Given the description of an element on the screen output the (x, y) to click on. 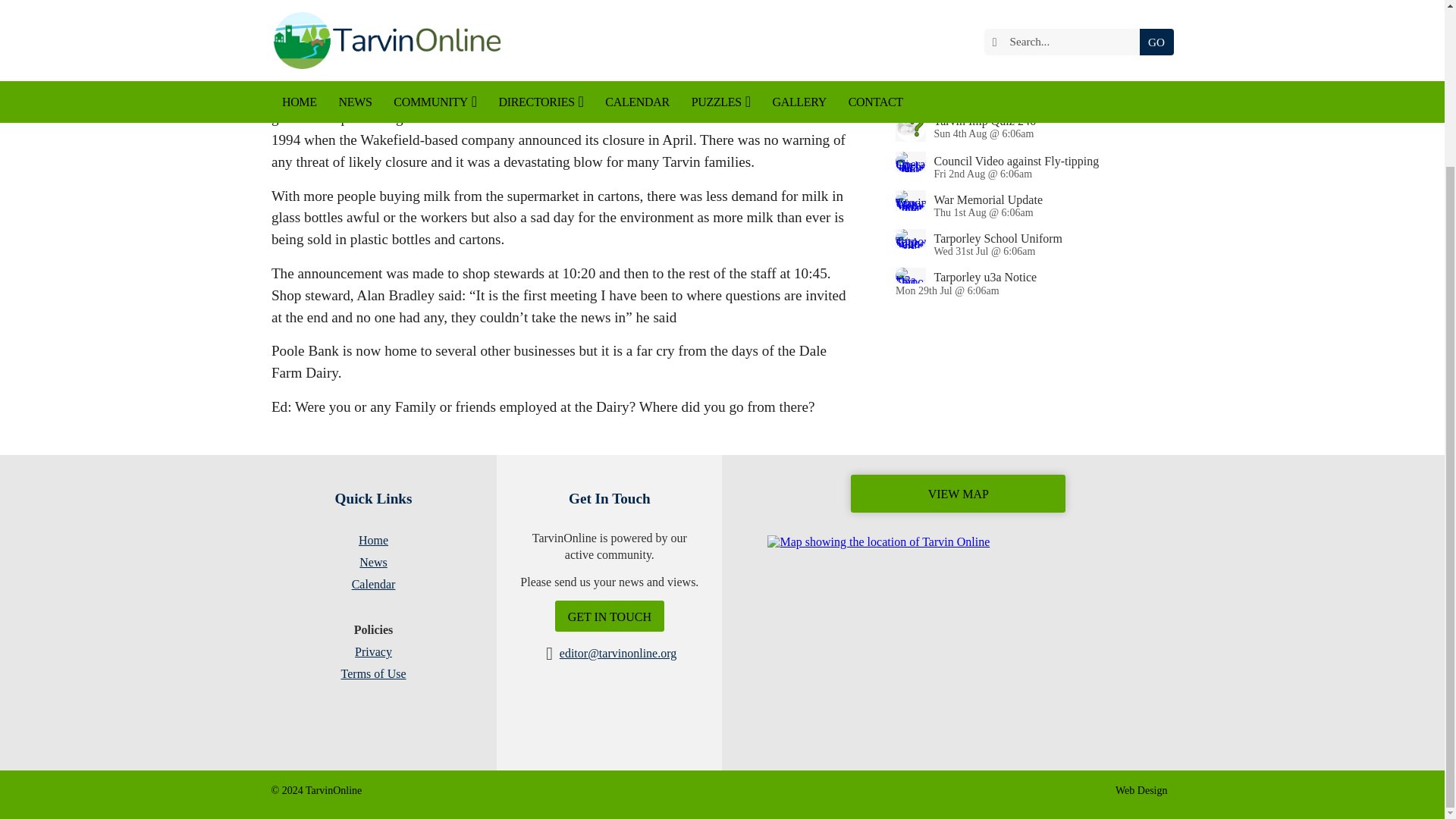
Visit our Facebook Page (389, 790)
Visit our X Feed (411, 790)
